Given the description of an element on the screen output the (x, y) to click on. 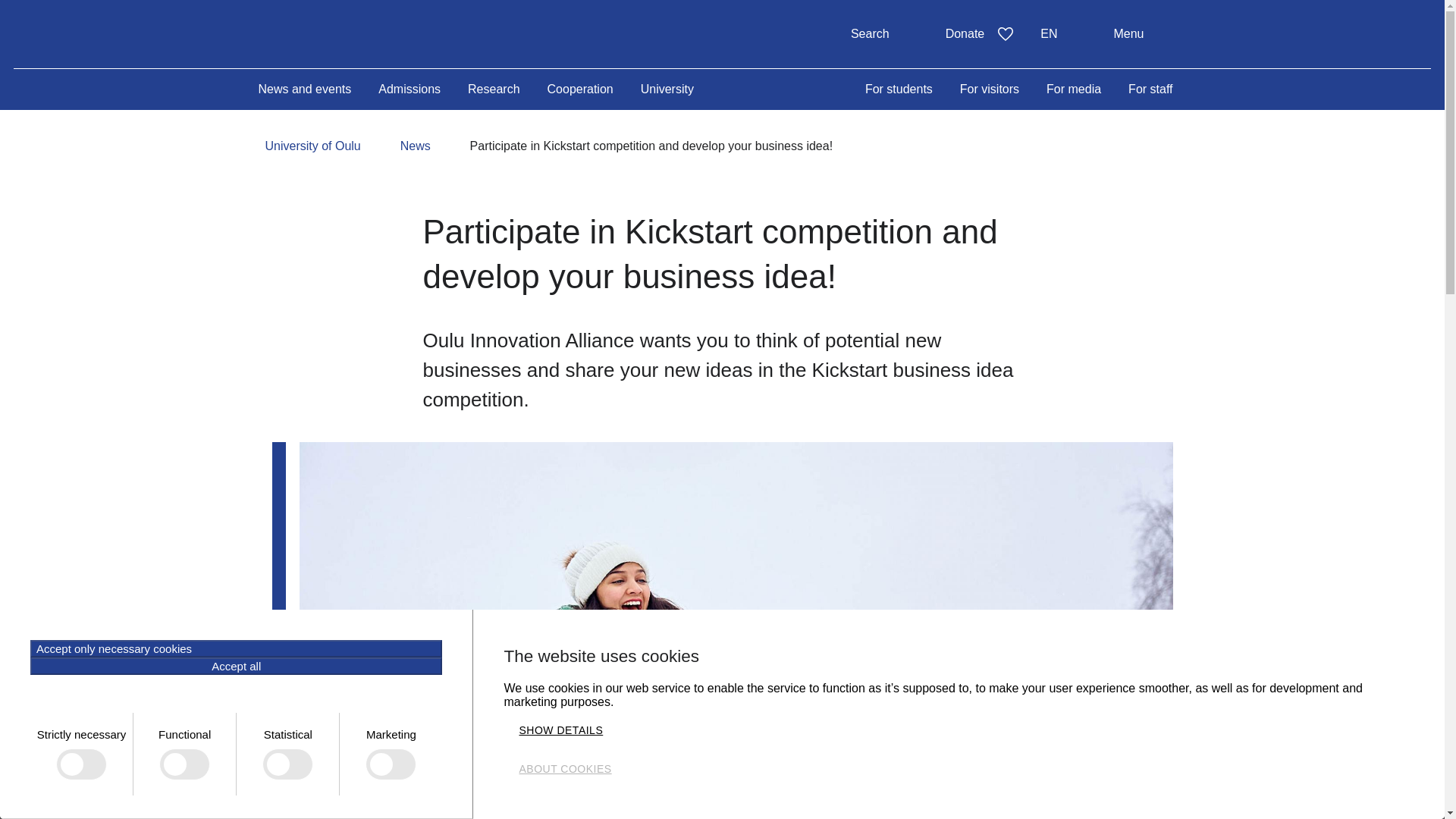
Accept all (236, 665)
ABOUT COOKIES (564, 768)
Accept only necessary cookies (236, 648)
University of Oulu front page (378, 31)
SHOW DETAILS (560, 729)
